Given the description of an element on the screen output the (x, y) to click on. 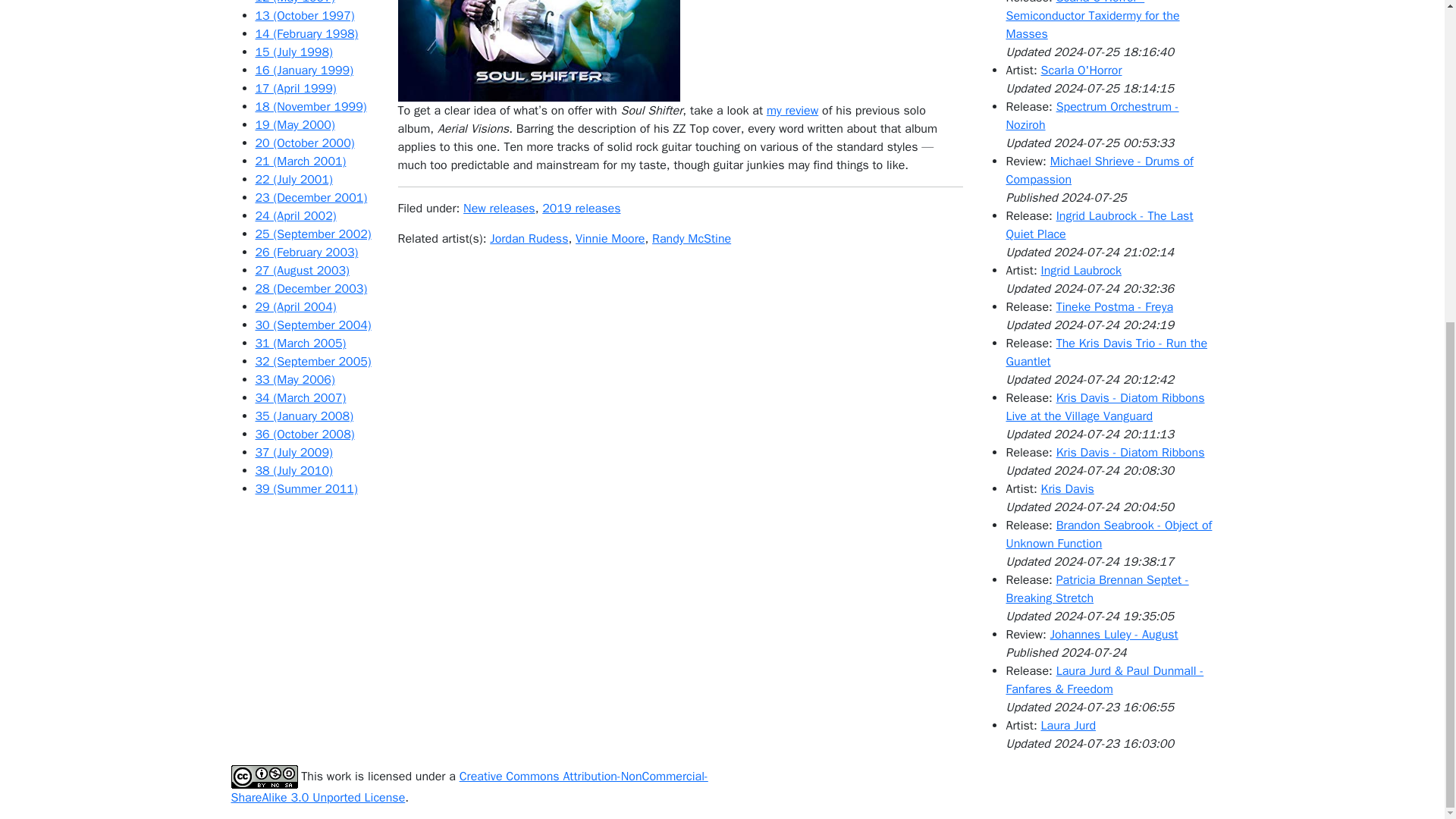
Soul Shifter Cover art (538, 50)
